Given the description of an element on the screen output the (x, y) to click on. 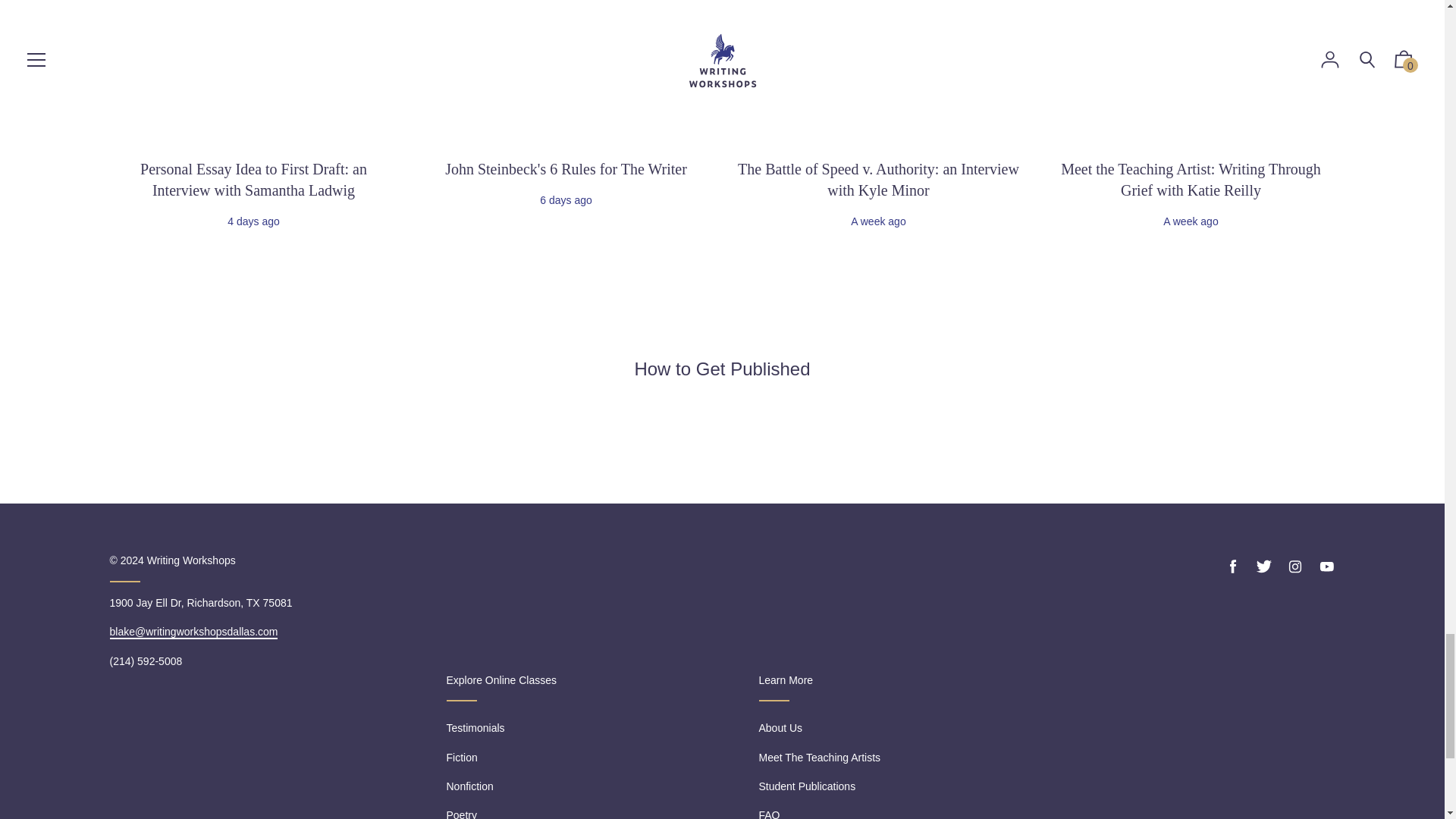
Writing Workshops on YouTube (1326, 566)
Writing Workshops on Facebook (1232, 566)
Writing Workshops on Twitter (1263, 566)
Writing Workshops on Instagram (1295, 566)
